Given the description of an element on the screen output the (x, y) to click on. 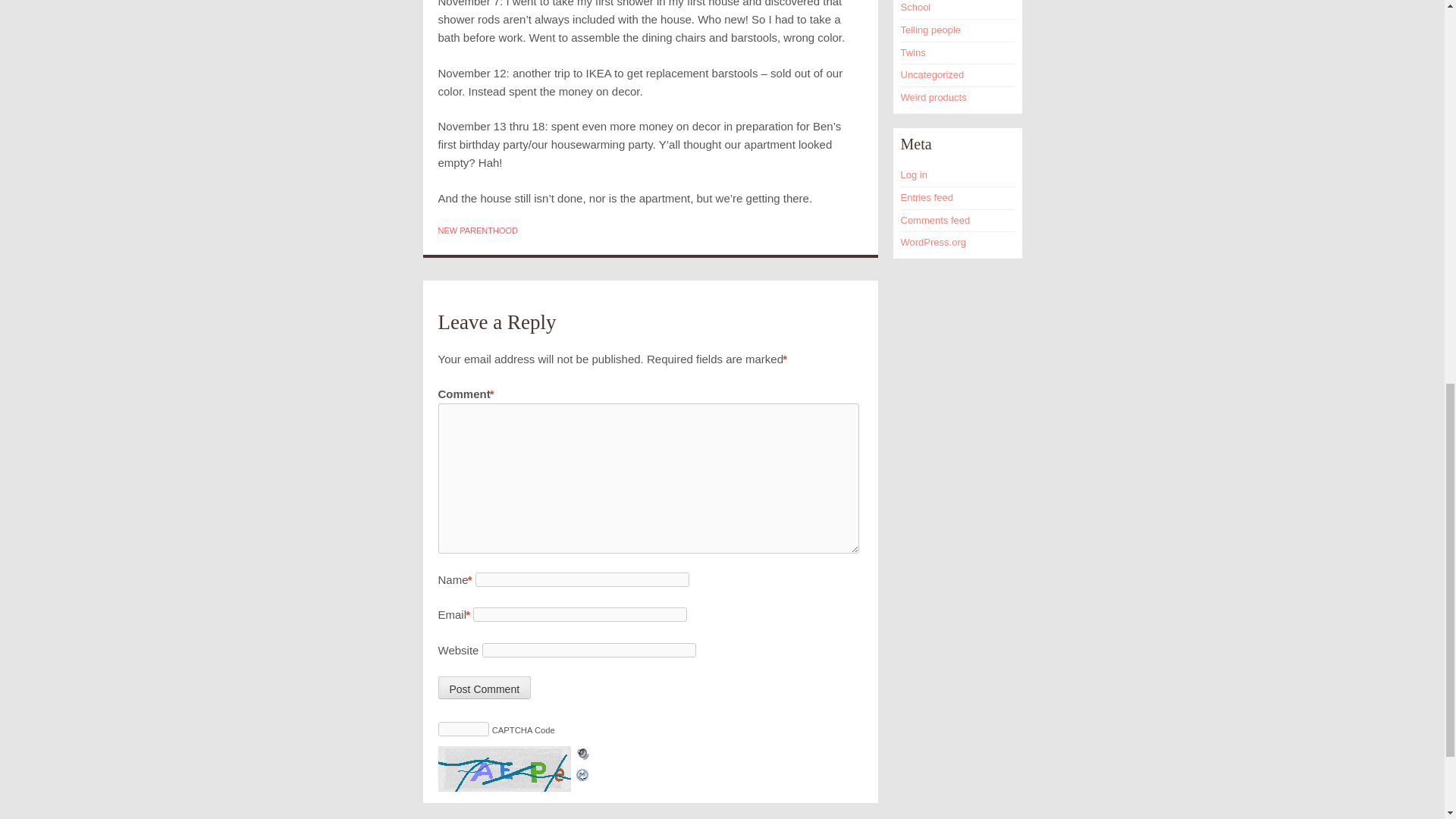
Post Comment (484, 687)
Uncategorized (932, 74)
NEW PARENTHOOD (478, 230)
Comments feed (936, 220)
Refresh Image (583, 772)
Post Comment (484, 687)
Log in (914, 174)
Twins (913, 52)
School (916, 7)
Entries feed (927, 197)
CAPTCHA Audio (583, 754)
Telling people (930, 30)
WordPress.org (933, 242)
Weird products (933, 97)
CAPTCHA Image (506, 768)
